Given the description of an element on the screen output the (x, y) to click on. 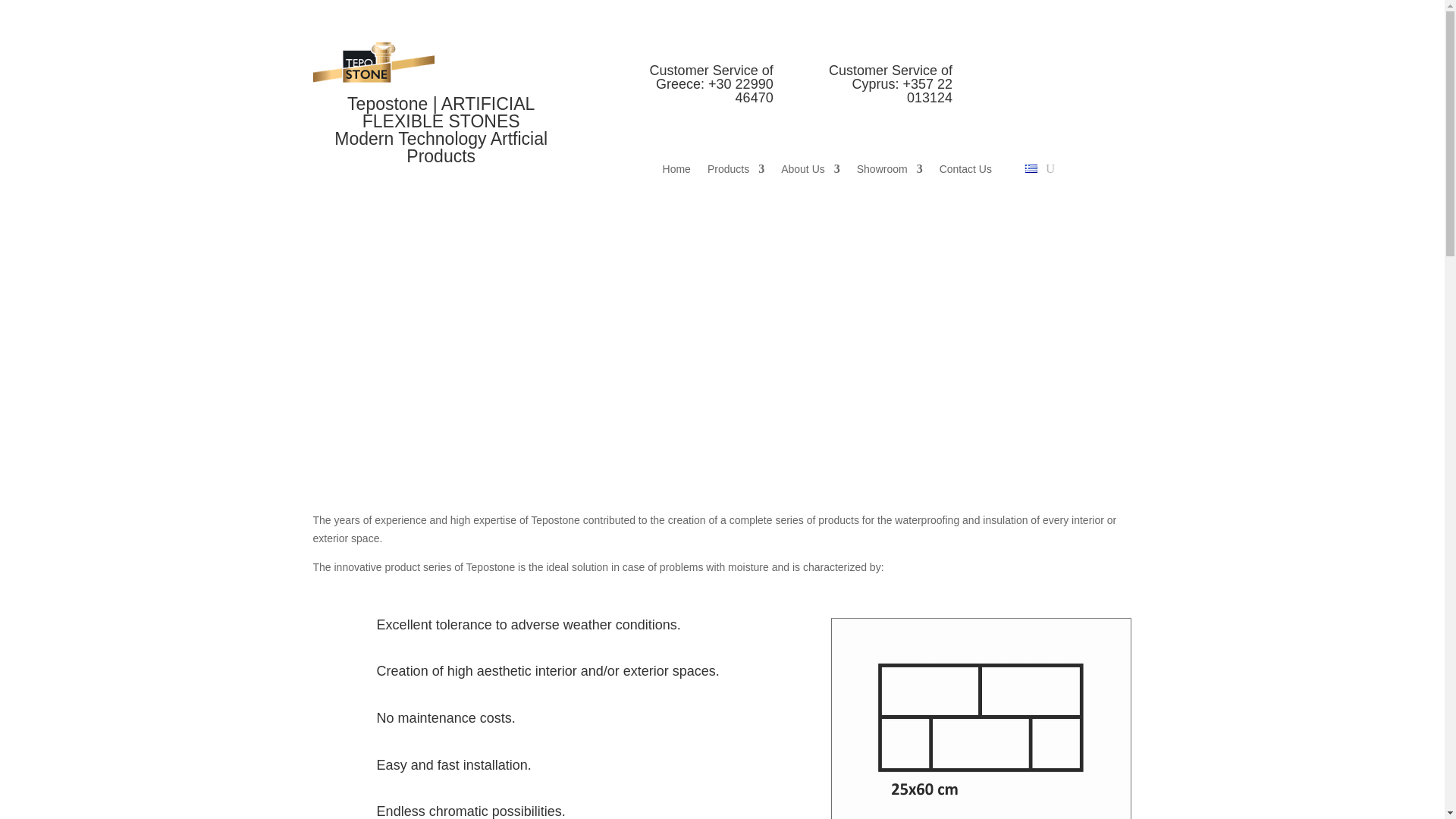
Follow on Youtube (1024, 75)
Follow on Instagram (994, 75)
JERUSALEM (981, 718)
Follow on Facebook (964, 75)
